Given the description of an element on the screen output the (x, y) to click on. 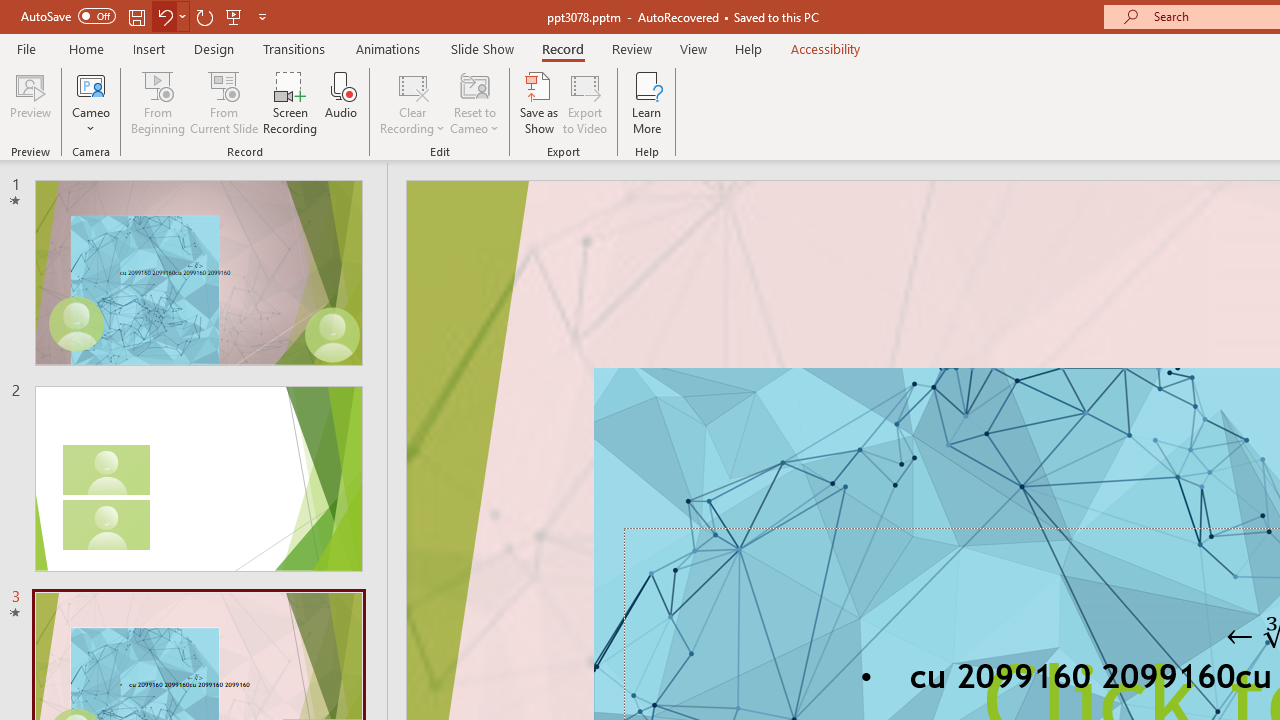
Save as Show (539, 102)
Reset to Cameo (474, 102)
Learn More (646, 102)
From Current Slide... (224, 102)
